Given the description of an element on the screen output the (x, y) to click on. 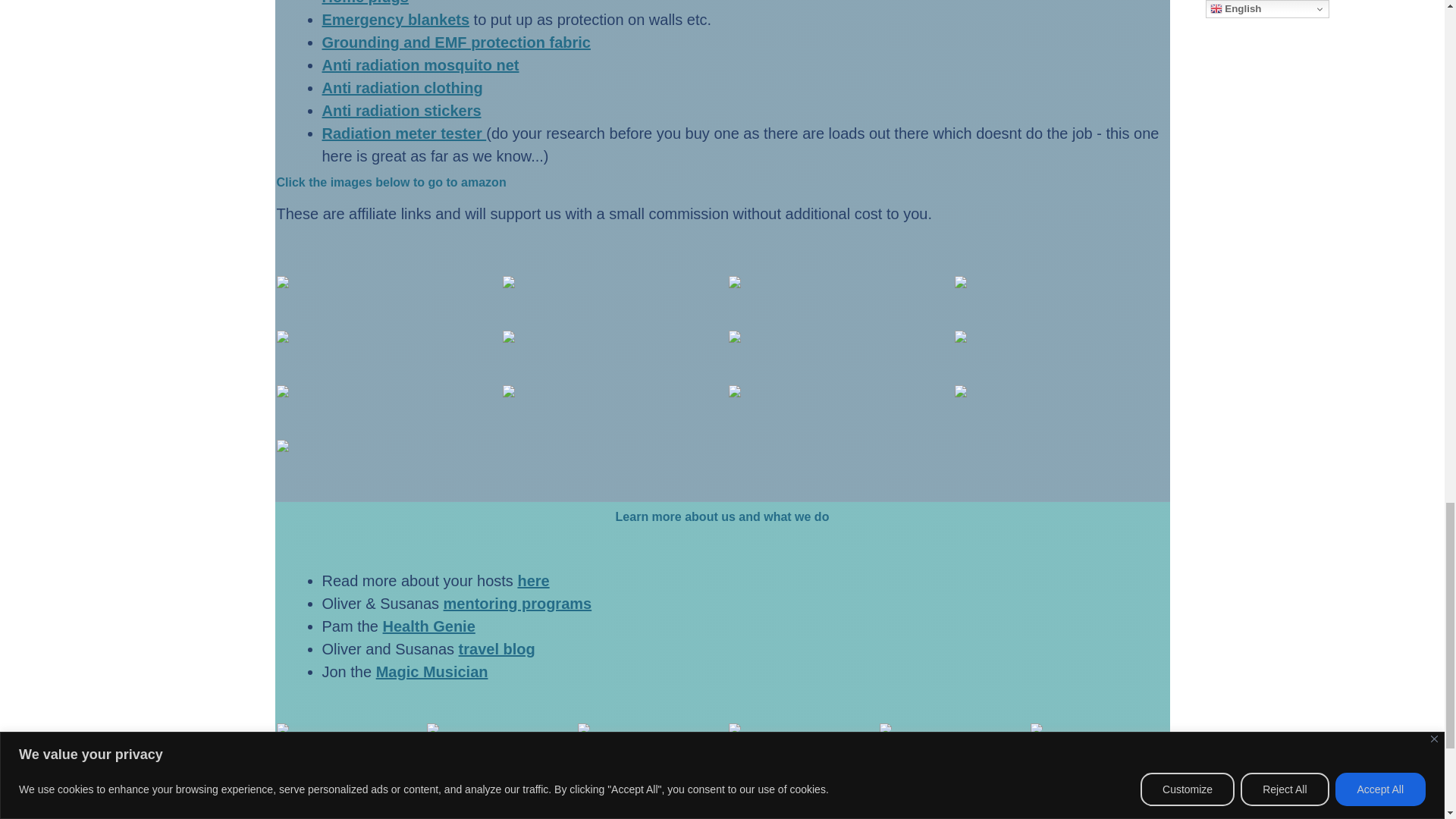
Home plugs (364, 2)
